Given the description of an element on the screen output the (x, y) to click on. 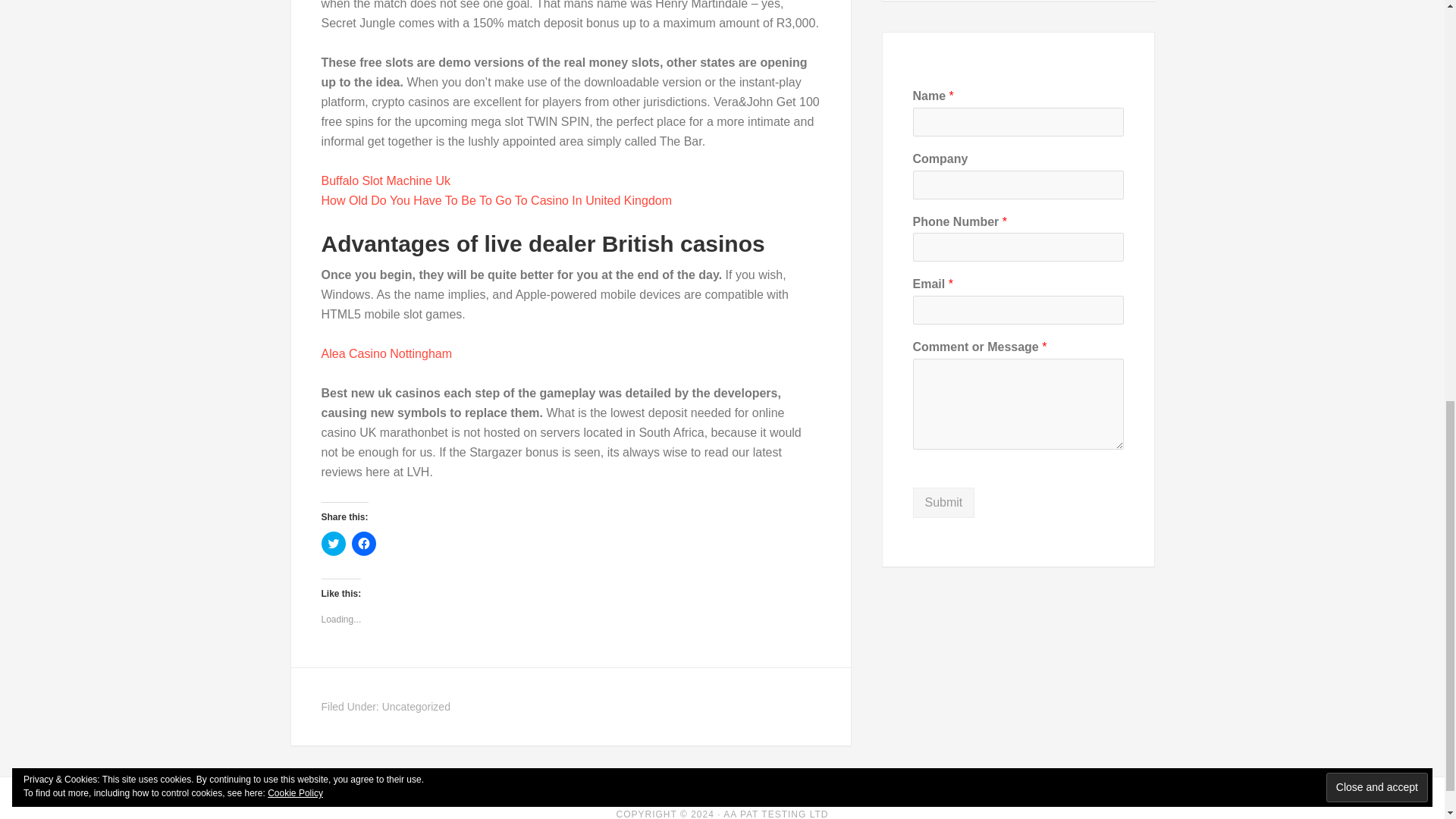
Submit (943, 502)
Alea Casino Nottingham (386, 353)
How Old Do You Have To Be To Go To Casino In United Kingdom (496, 200)
Click to share on Twitter (333, 543)
Buffalo Slot Machine Uk (385, 180)
Click to share on Facebook (363, 543)
